Given the description of an element on the screen output the (x, y) to click on. 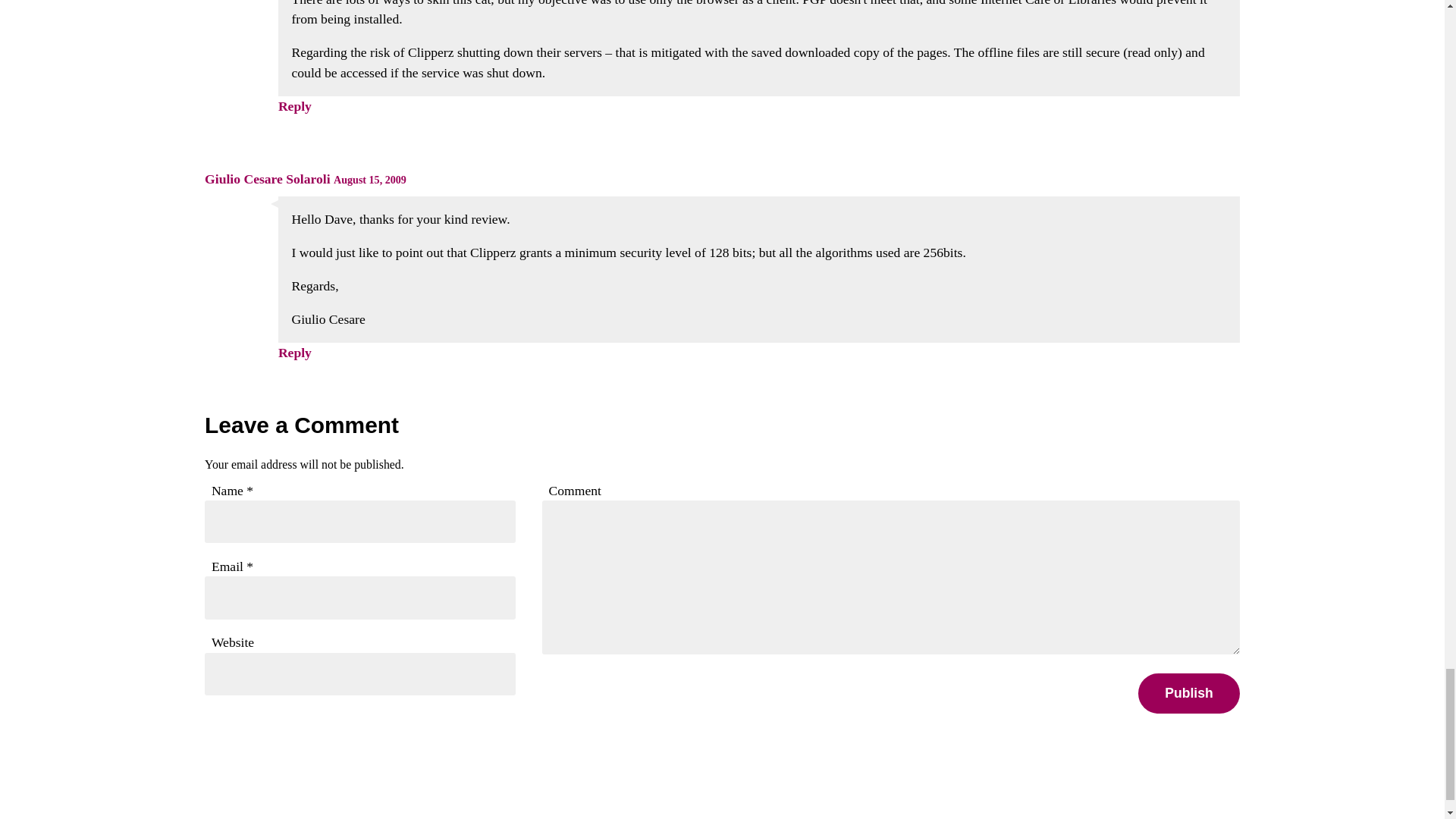
Publish (1189, 693)
